Given the description of an element on the screen output the (x, y) to click on. 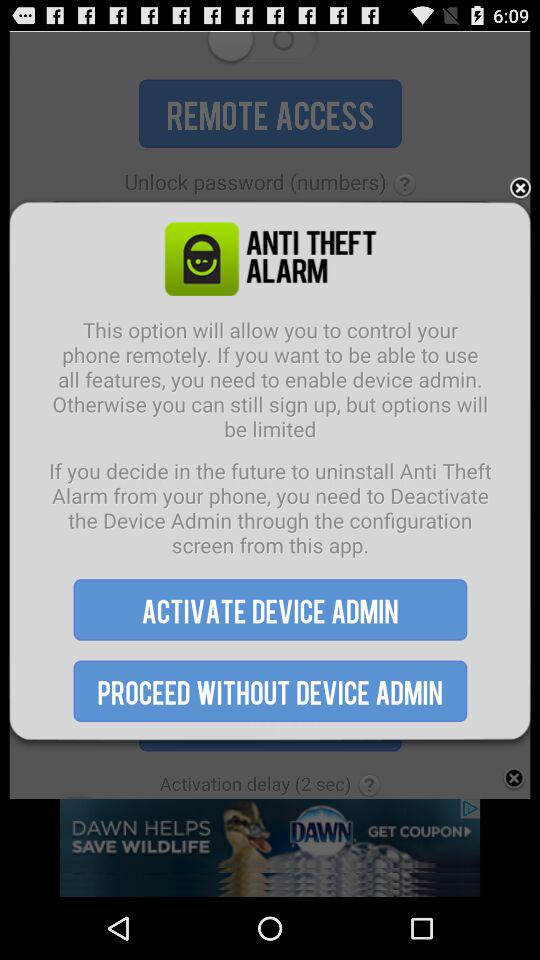
choose proceed without device (270, 690)
